Given the description of an element on the screen output the (x, y) to click on. 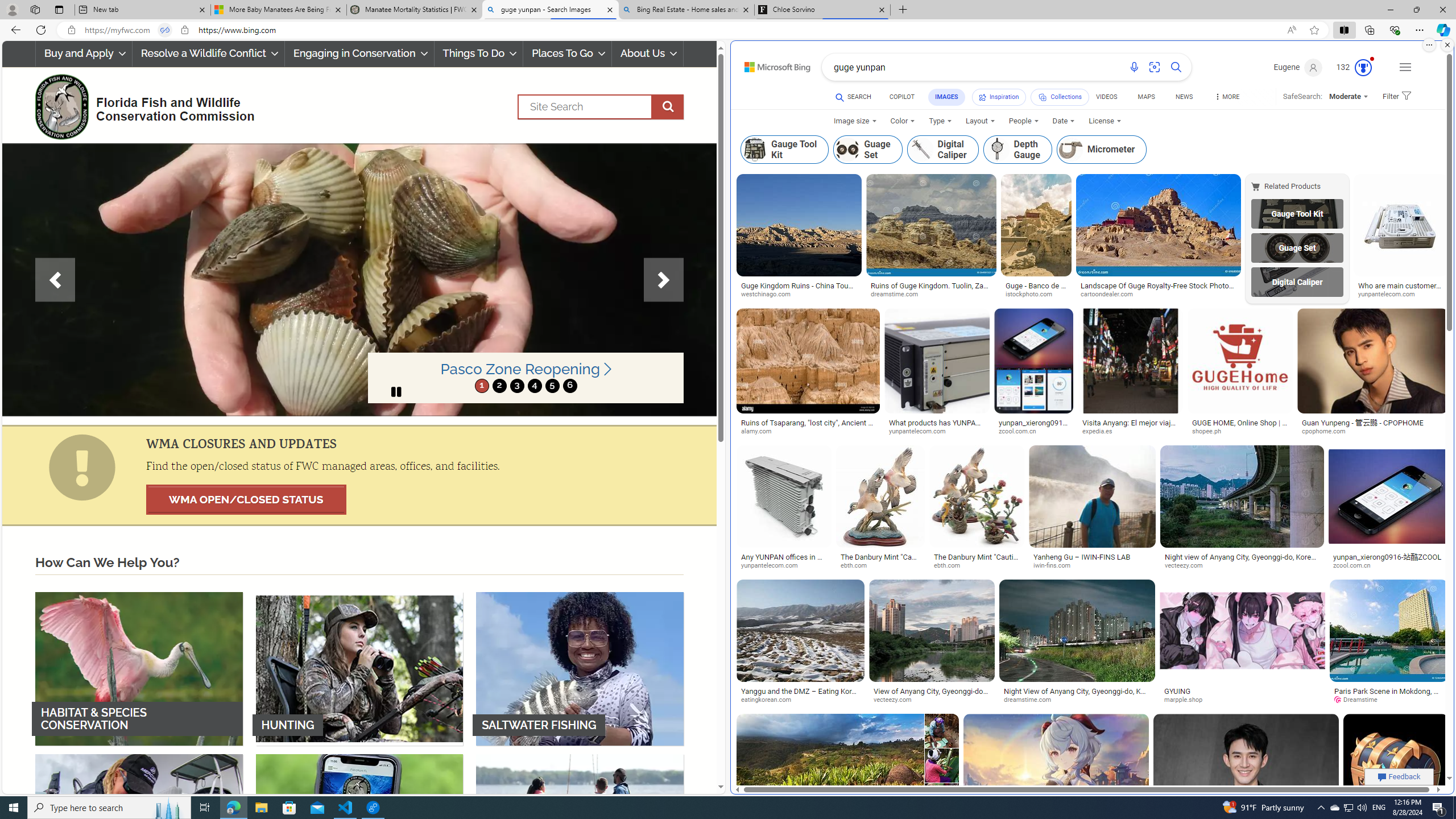
More options. (1428, 45)
Dreamstime (1359, 699)
Digital Caliper (920, 149)
expedia.es (1101, 430)
vecteezy.com (931, 699)
Layout (979, 121)
